Given the description of an element on the screen output the (x, y) to click on. 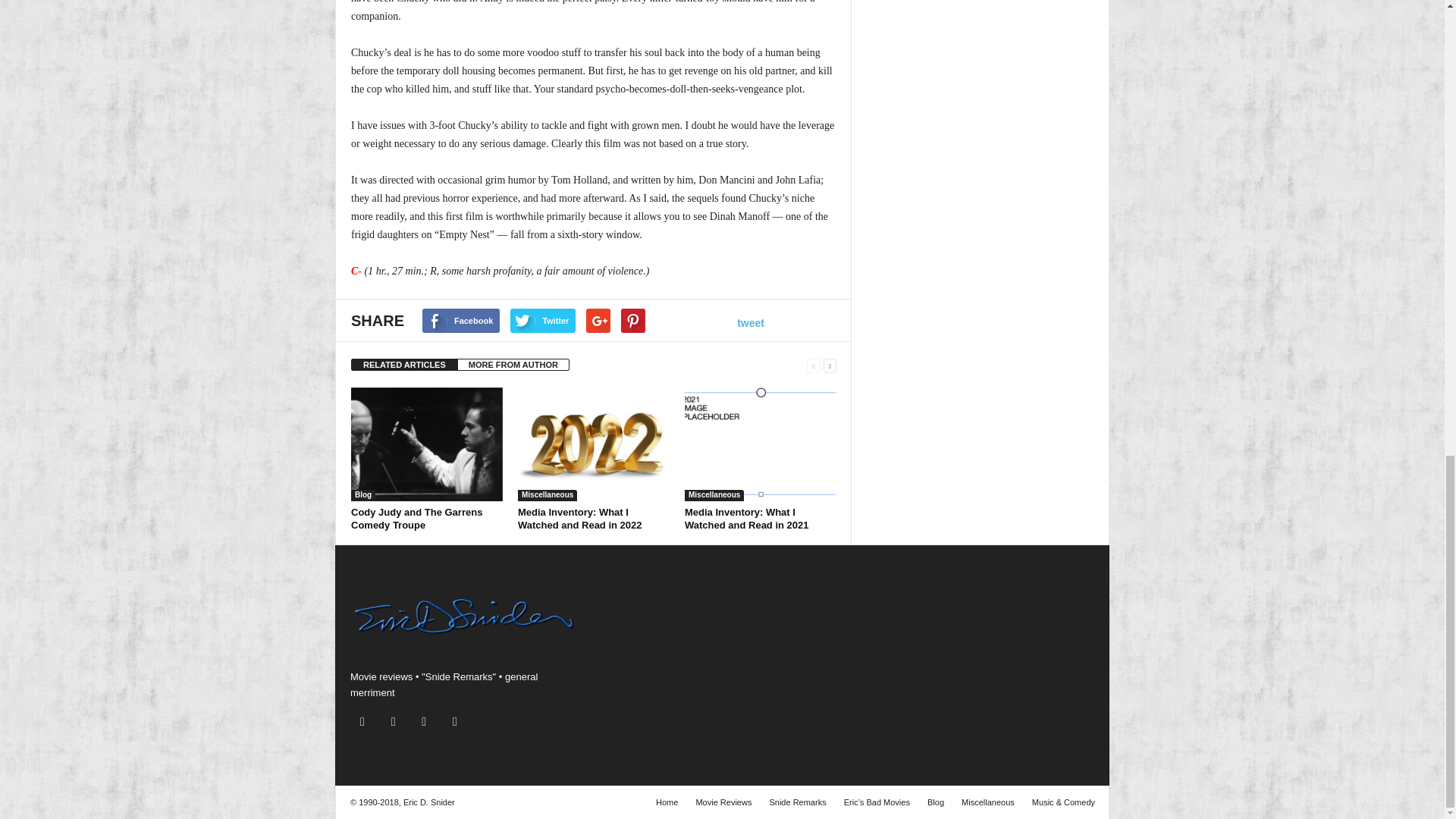
Media Inventory: What I Watched and Read in 2021 (759, 444)
Media Inventory: What I Watched and Read in 2022 (580, 518)
Media Inventory: What I Watched and Read in 2021 (746, 518)
Media Inventory: What I Watched and Read in 2022 (593, 444)
Instagram (365, 722)
Mail (396, 722)
Cody Judy and The Garrens Comedy Troupe (426, 444)
Cody Judy and The Garrens Comedy Troupe (415, 518)
Soundcloud (427, 722)
